Given the description of an element on the screen output the (x, y) to click on. 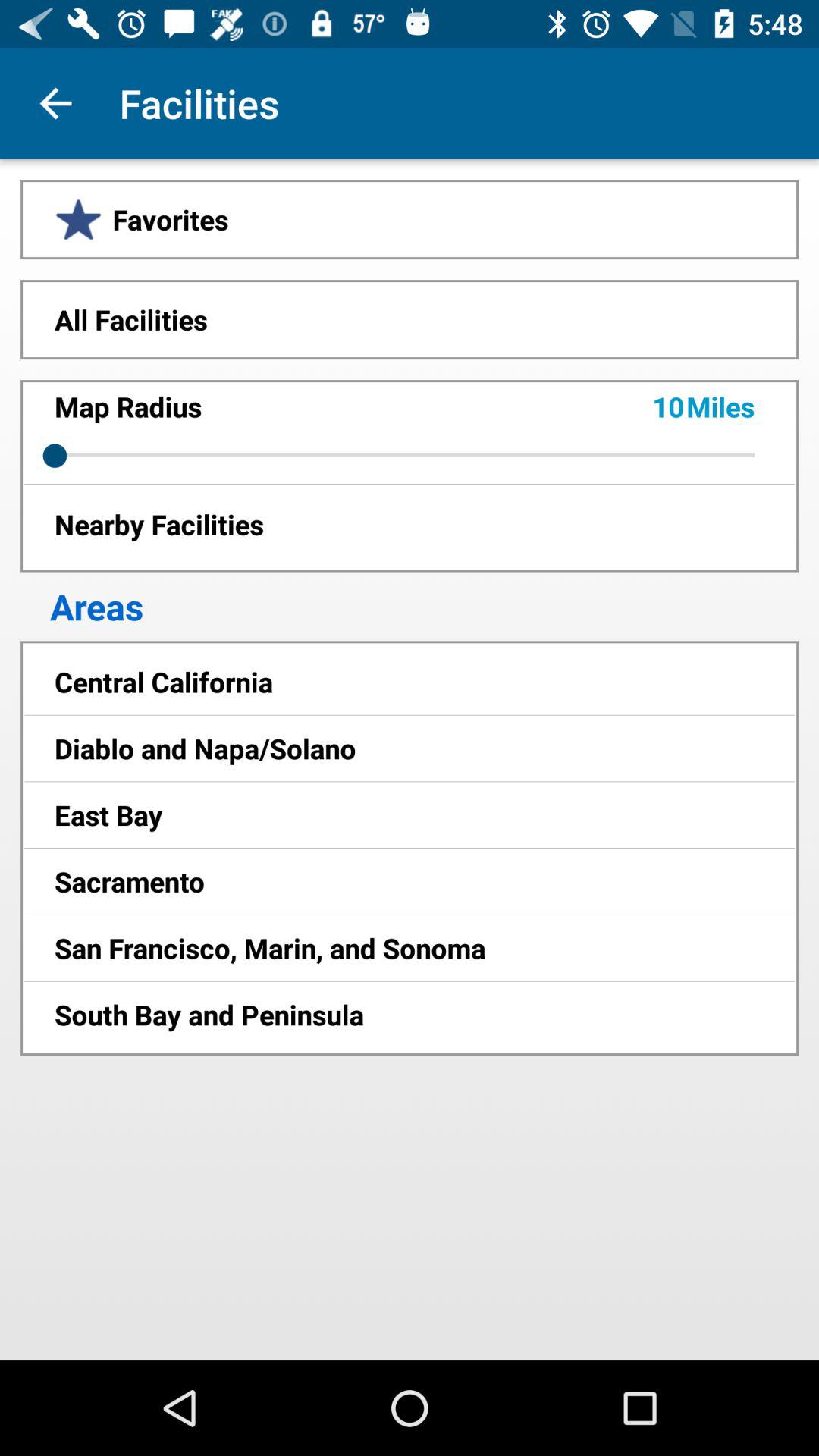
select icon above the favorites item (55, 103)
